Given the description of an element on the screen output the (x, y) to click on. 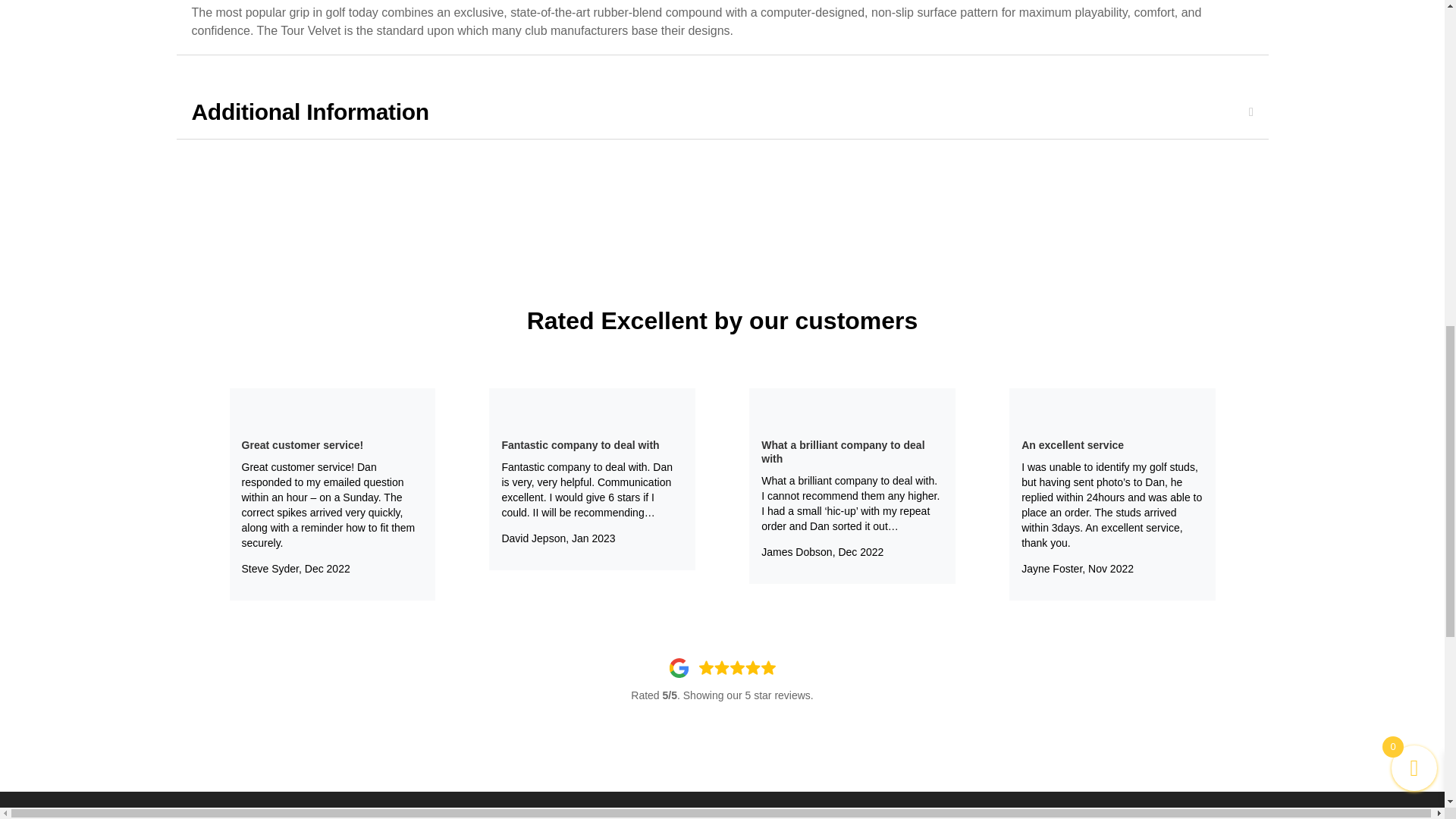
google-star-rating-min-optimized (721, 668)
